Given the description of an element on the screen output the (x, y) to click on. 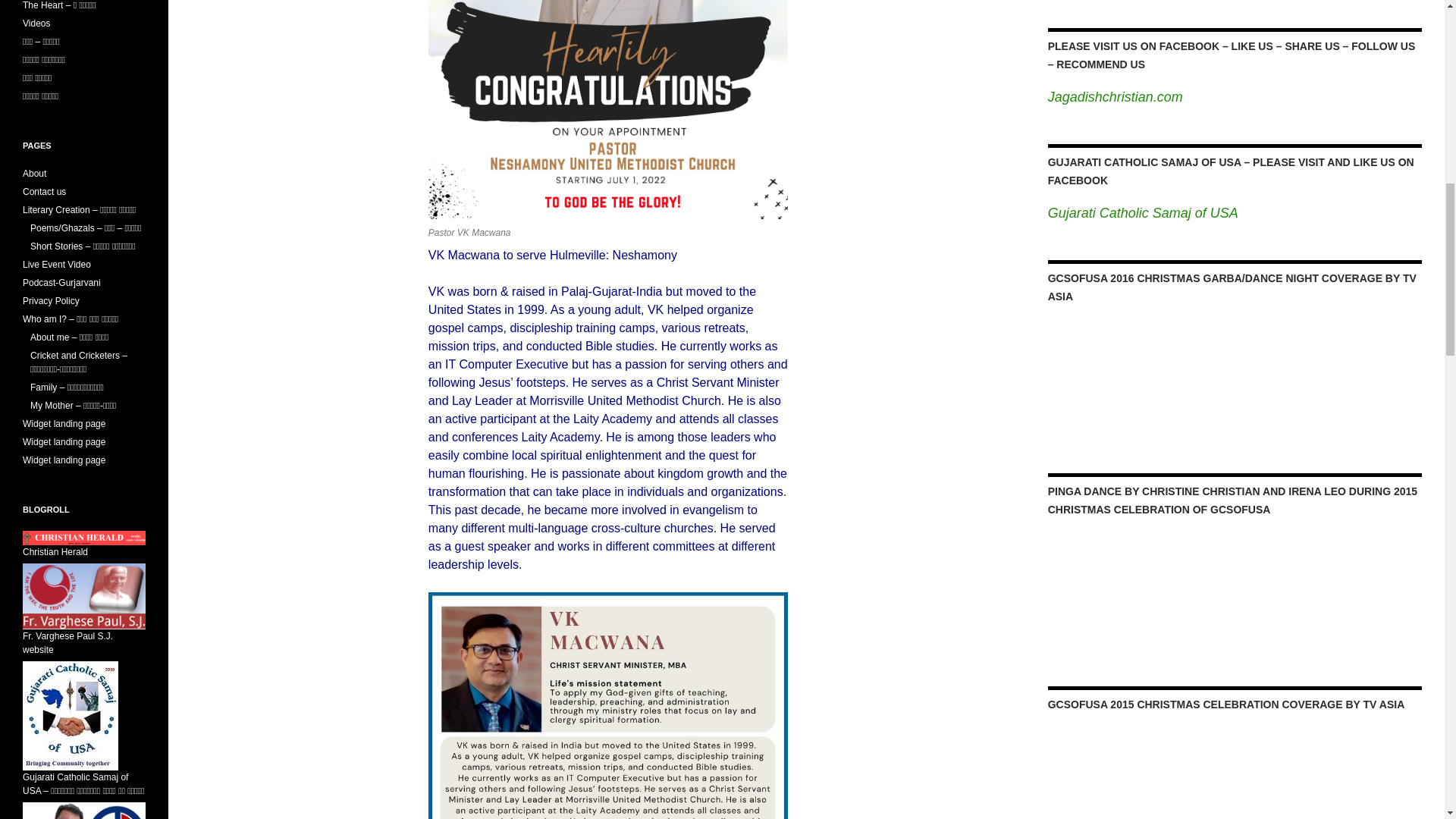
Jagadishchristian.com (1115, 96)
Gujarati Catholic Samaj of USA (1143, 212)
